Given the description of an element on the screen output the (x, y) to click on. 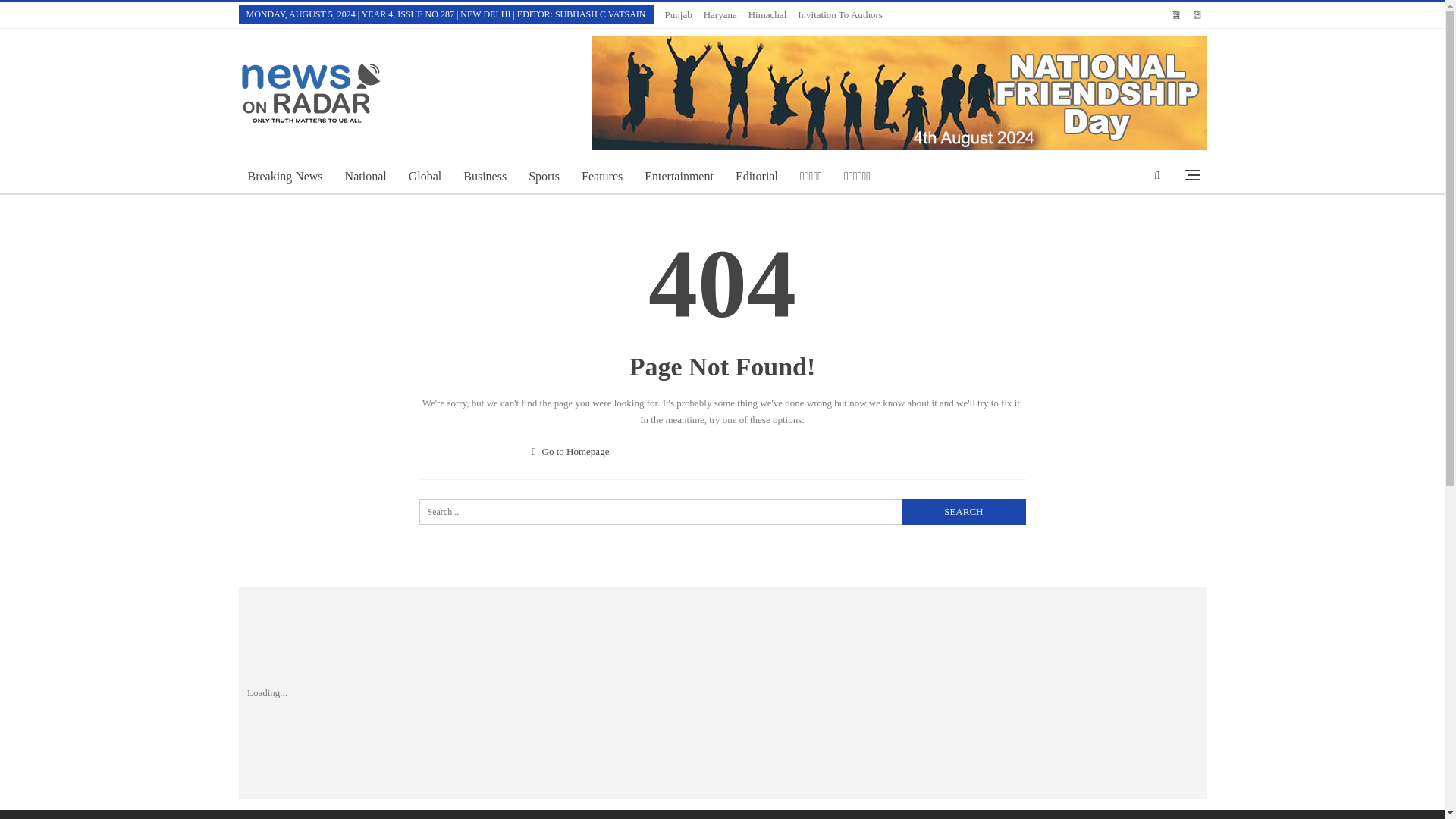
Search (818, 803)
Search (963, 466)
Search for: (963, 466)
Punjab (722, 466)
Search (686, 14)
Editorial (963, 466)
National (756, 131)
Haryana (366, 131)
Go to Homepage (728, 14)
